Given the description of an element on the screen output the (x, y) to click on. 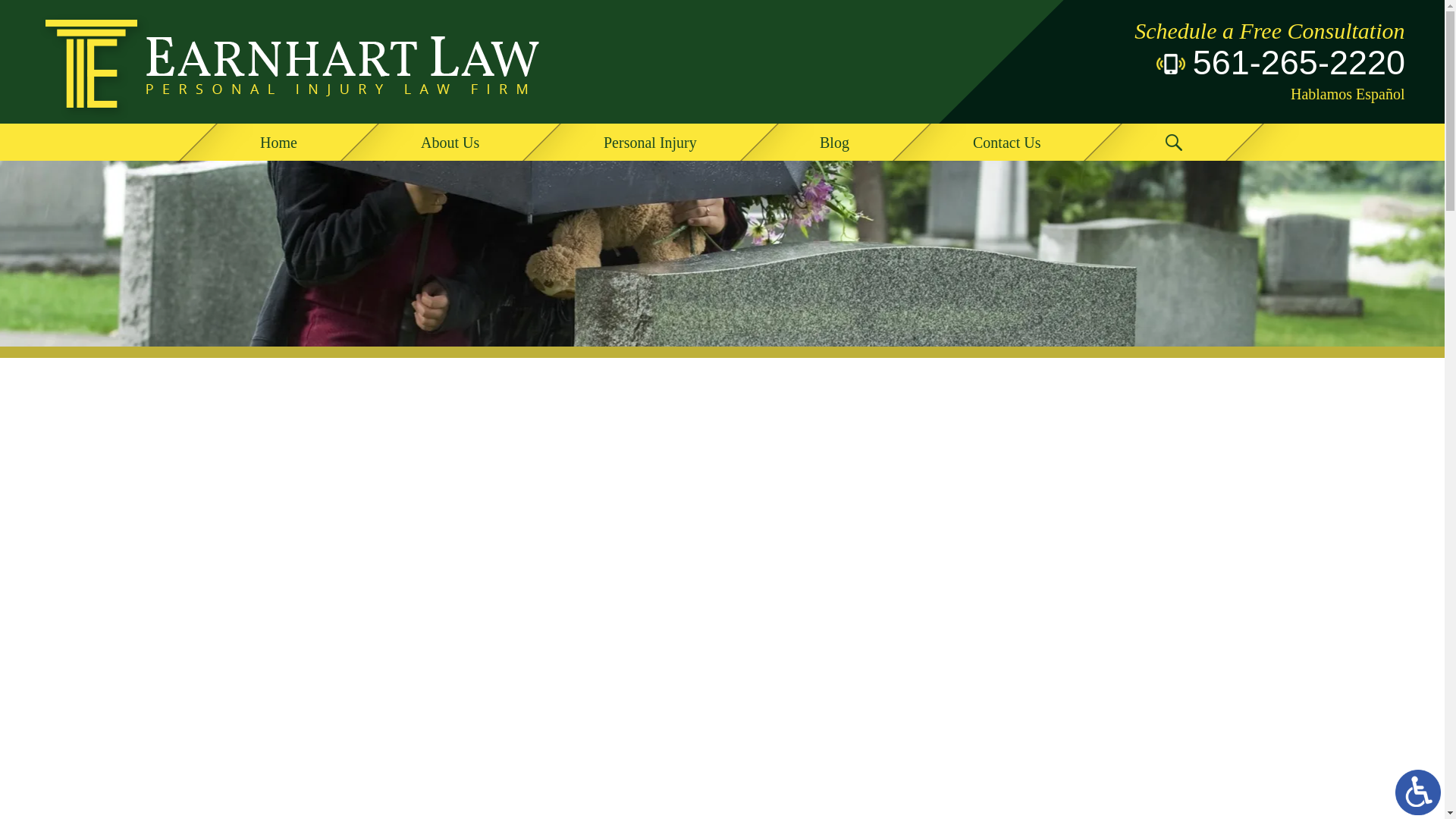
Home (279, 141)
Contact Us (1007, 141)
About Us (450, 141)
Earnhart Law Personal Injury Law Firm (293, 61)
Personal Injury (651, 141)
561-265-2220 (1237, 63)
Blog (835, 141)
